Given the description of an element on the screen output the (x, y) to click on. 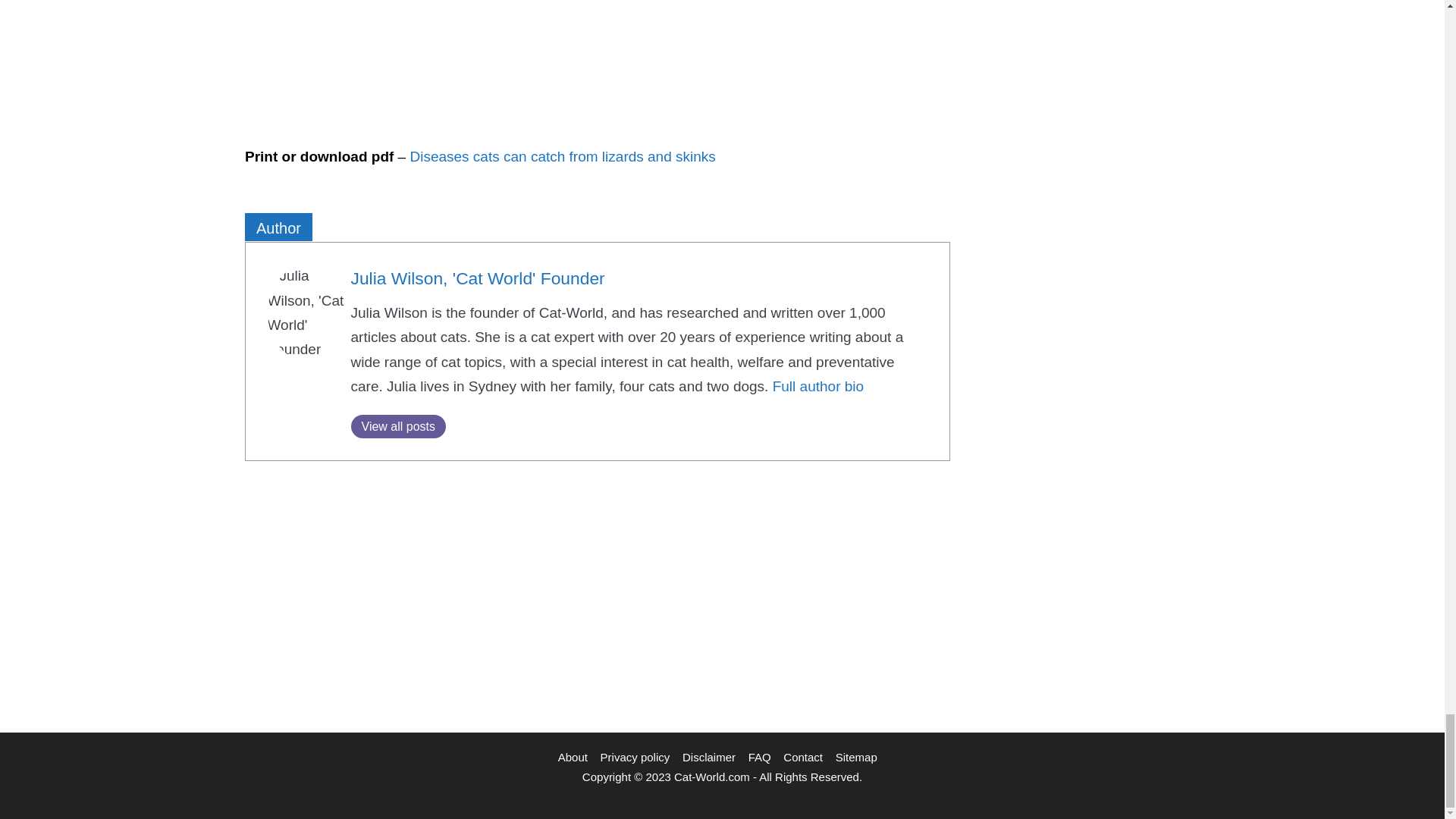
Julia Wilson, 'Cat World' Founder (477, 278)
View all posts (397, 426)
